Given the description of an element on the screen output the (x, y) to click on. 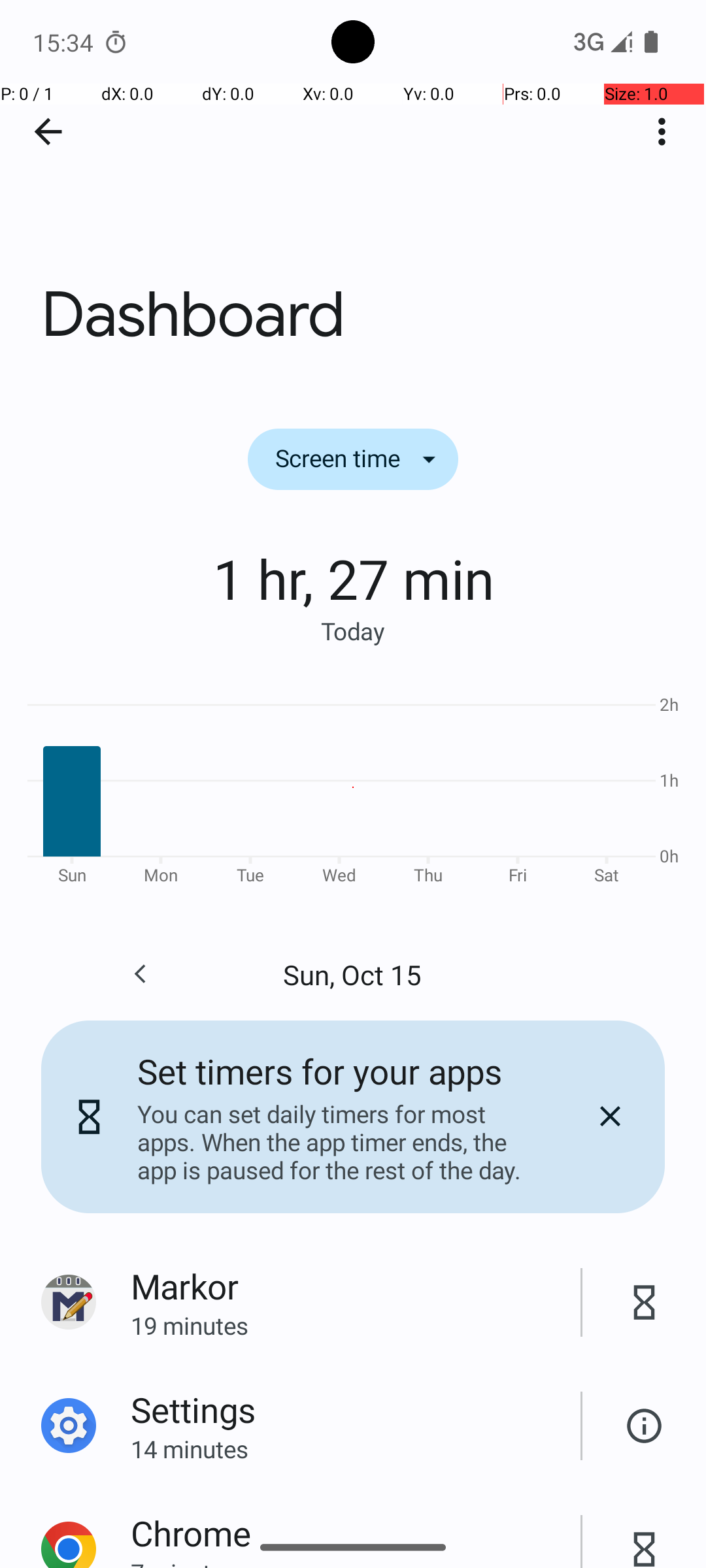
Dashboard Element type: android.widget.FrameLayout (353, 195)
1 hr, 27 min Element type: android.widget.TextView (353, 577)
Set timers for your apps Element type: android.widget.TextView (319, 1070)
You can set daily timers for most apps. When the app timer ends, the app is paused for the rest of the day. Element type: android.widget.TextView (339, 1141)
Dismiss card Element type: android.widget.Button (609, 1116)
19 minutes Element type: android.widget.TextView (355, 1325)
No timer set for Markor Element type: android.widget.FrameLayout (644, 1302)
14 minutes Element type: android.widget.TextView (355, 1448)
Can't set timer Element type: android.widget.FrameLayout (644, 1425)
7 minutes Element type: android.widget.TextView (355, 1562)
No timer set for Chrome Element type: android.widget.FrameLayout (644, 1534)
Bar Chart. Showing Phone usage data with 7 data points. Element type: android.view.ViewGroup (353, 787)
